Given the description of an element on the screen output the (x, y) to click on. 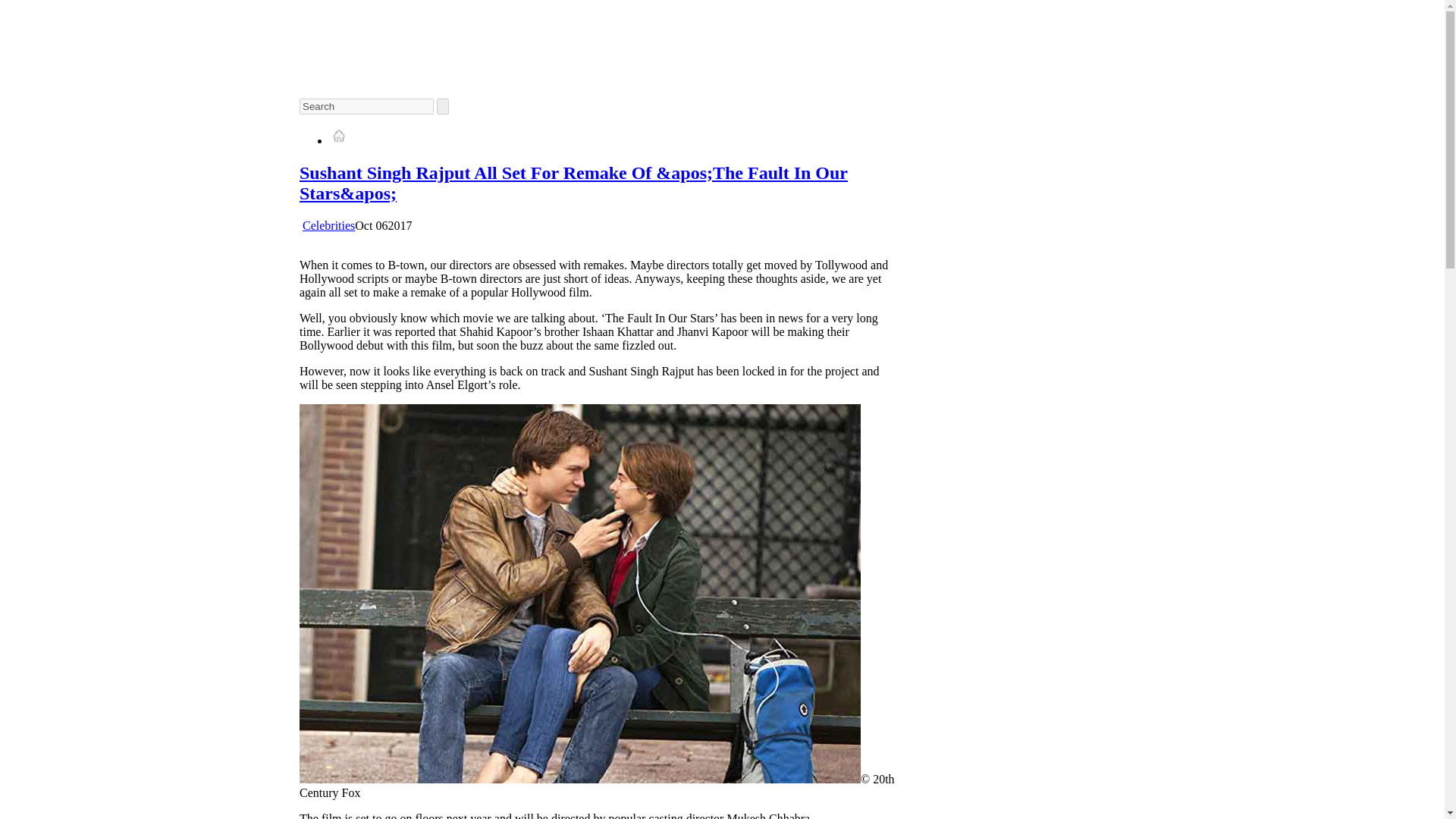
Search (366, 106)
Search (366, 106)
Celebrities (328, 225)
